Given the description of an element on the screen output the (x, y) to click on. 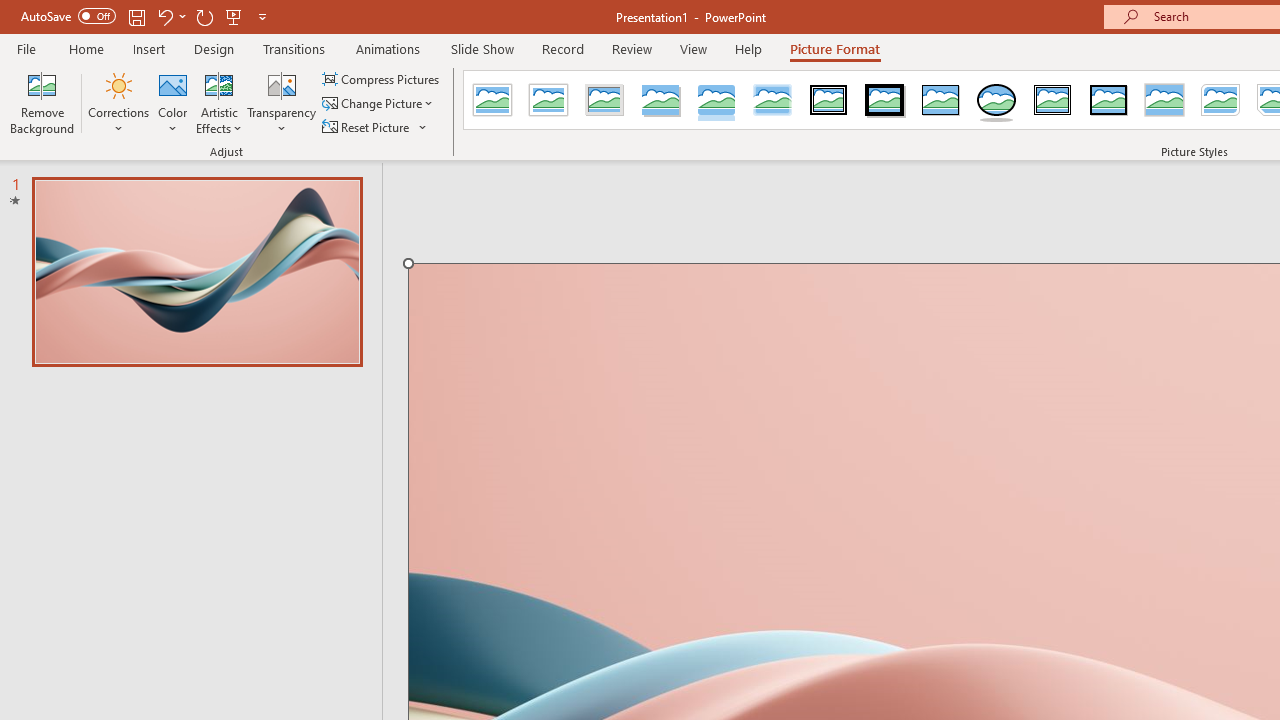
Compress Pictures... (381, 78)
Moderate Frame, Black (1108, 100)
Rounded Diagonal Corner, White (1220, 100)
Beveled Matte, White (548, 100)
Drop Shadow Rectangle (660, 100)
